Given the description of an element on the screen output the (x, y) to click on. 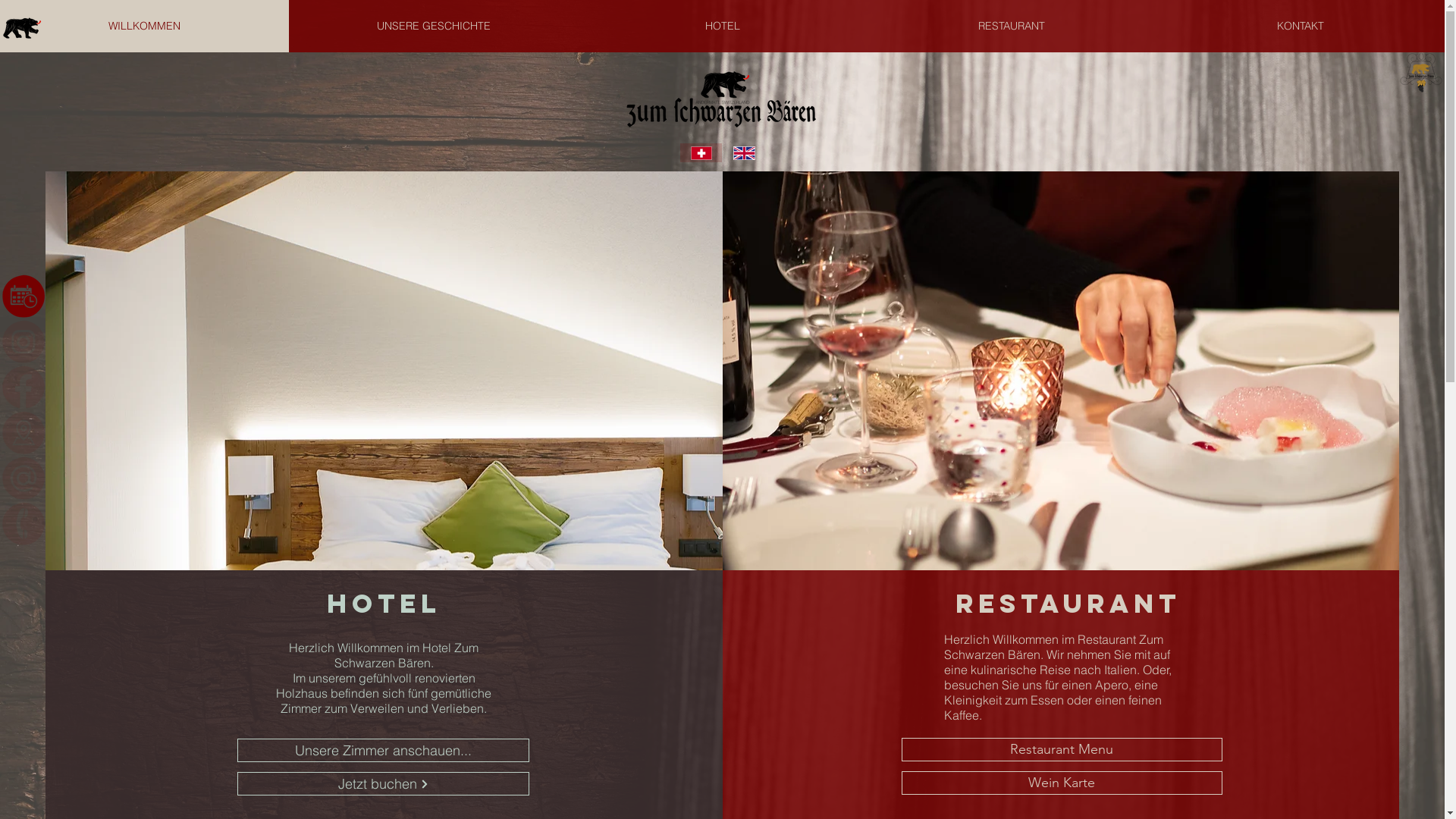
WILLKOMMEN Element type: text (144, 26)
HOTEL Element type: text (721, 26)
Restaurant Menu Element type: text (1061, 749)
Jetzt buchen Element type: text (383, 783)
Unsere Zimmer anschauen... Element type: text (383, 750)
Wein Karte Element type: text (1061, 782)
UNSERE GESCHICHTE Element type: text (432, 26)
